Given the description of an element on the screen output the (x, y) to click on. 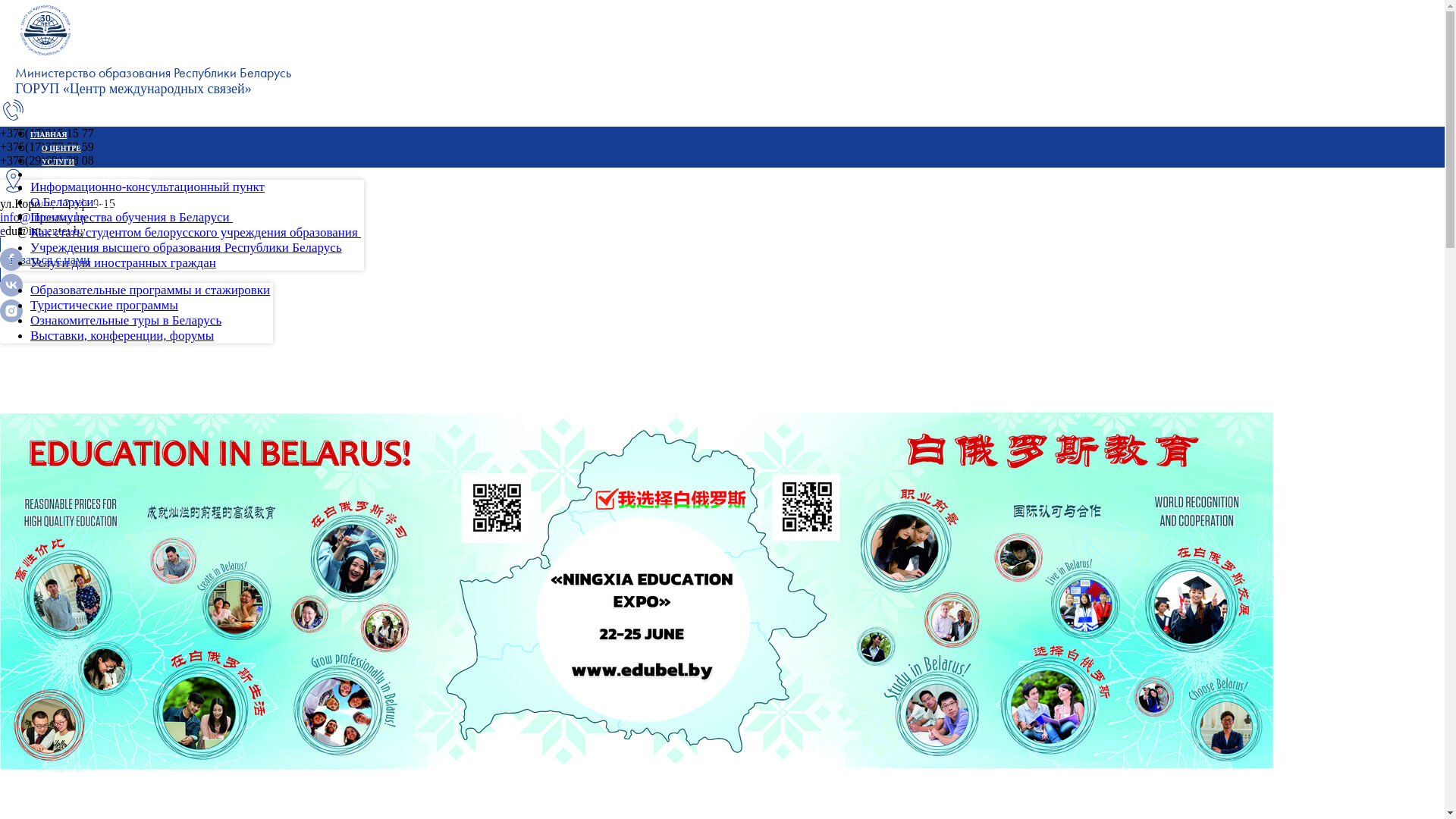
RU Element type: text (5, 346)
EN Element type: text (5, 333)
info@intcenter.by
e Element type: text (43, 223)
